Given the description of an element on the screen output the (x, y) to click on. 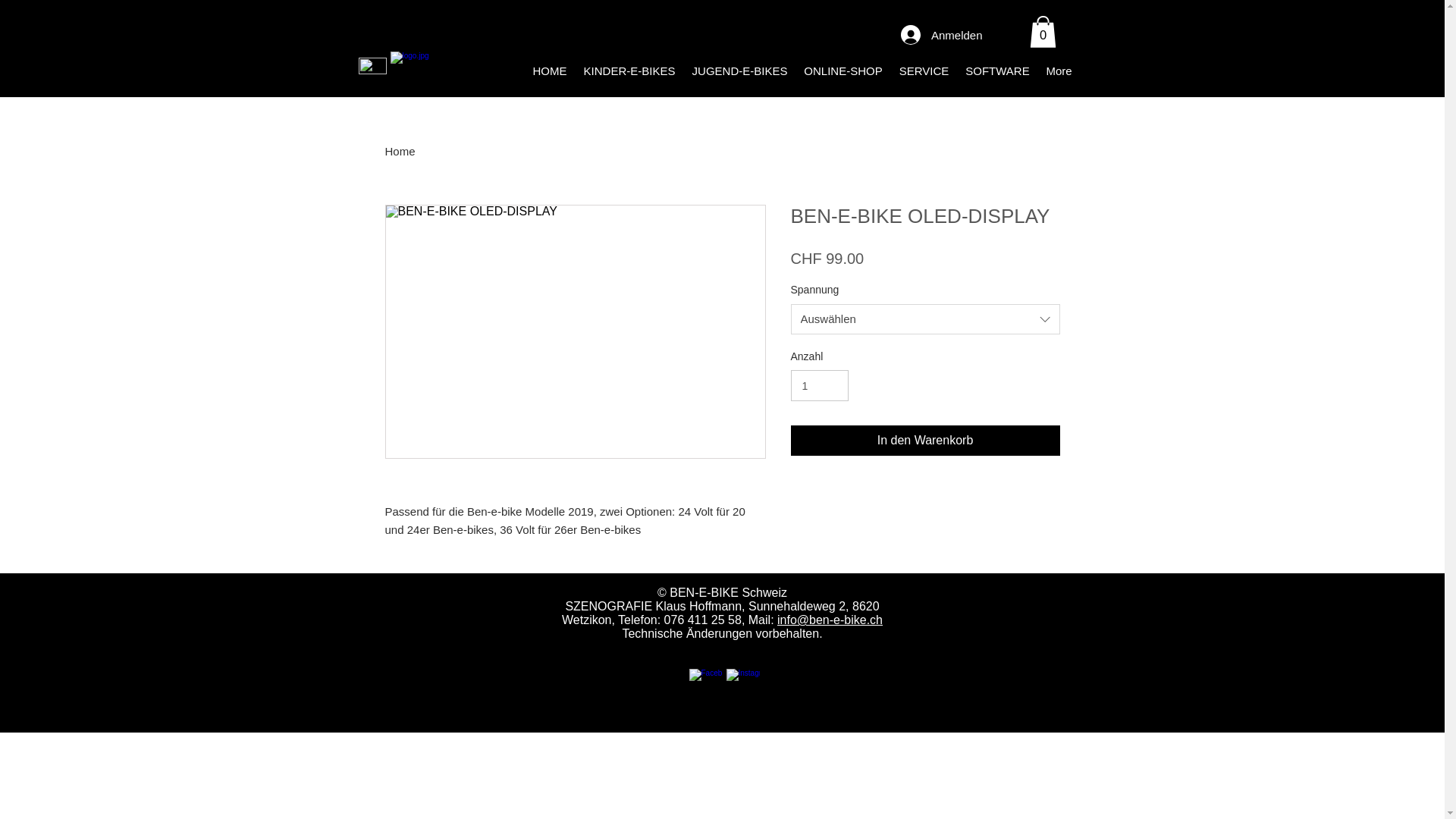
KINDER-E-BIKES Element type: text (628, 70)
In den Warenkorb Element type: text (924, 440)
SOFTWARE Element type: text (997, 70)
0 Element type: text (1042, 31)
Anmelden Element type: text (941, 34)
JUGEND-E-BIKES Element type: text (740, 70)
info@ben-e-bike.ch Element type: text (829, 619)
Home Element type: text (400, 150)
HOME Element type: text (549, 70)
SERVICE Element type: text (923, 70)
ONLINE-SHOP Element type: text (843, 70)
